Given the description of an element on the screen output the (x, y) to click on. 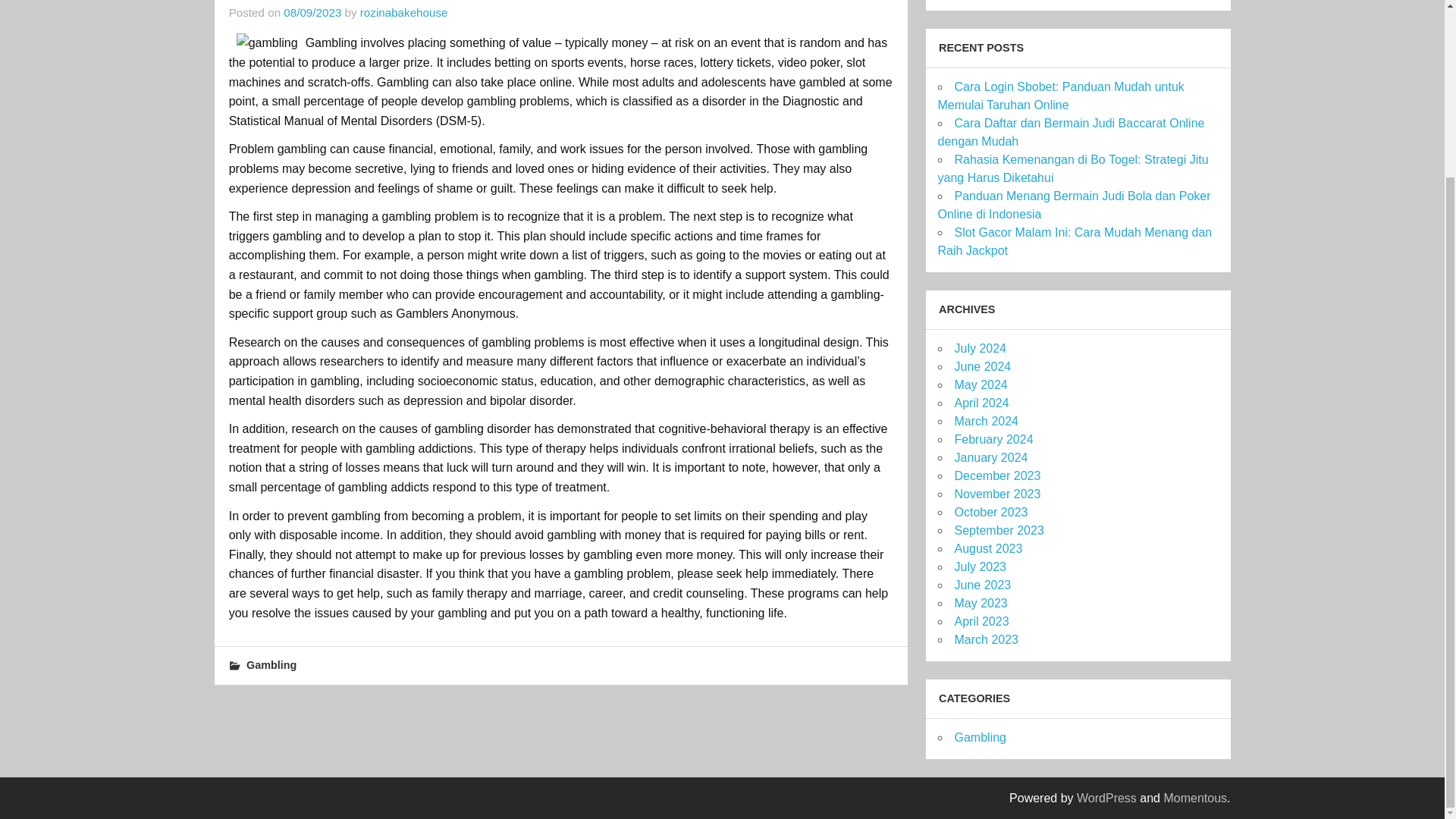
Gambling (979, 737)
WordPress (1107, 797)
July 2023 (979, 566)
3:32 PM (311, 11)
December 2023 (997, 475)
View all posts by rozinabakehouse (403, 11)
February 2024 (992, 439)
March 2024 (985, 420)
Gambling (271, 664)
August 2023 (987, 548)
May 2024 (980, 384)
Cara Daftar dan Bermain Judi Baccarat Online dengan Mudah (1070, 132)
October 2023 (990, 512)
